Given the description of an element on the screen output the (x, y) to click on. 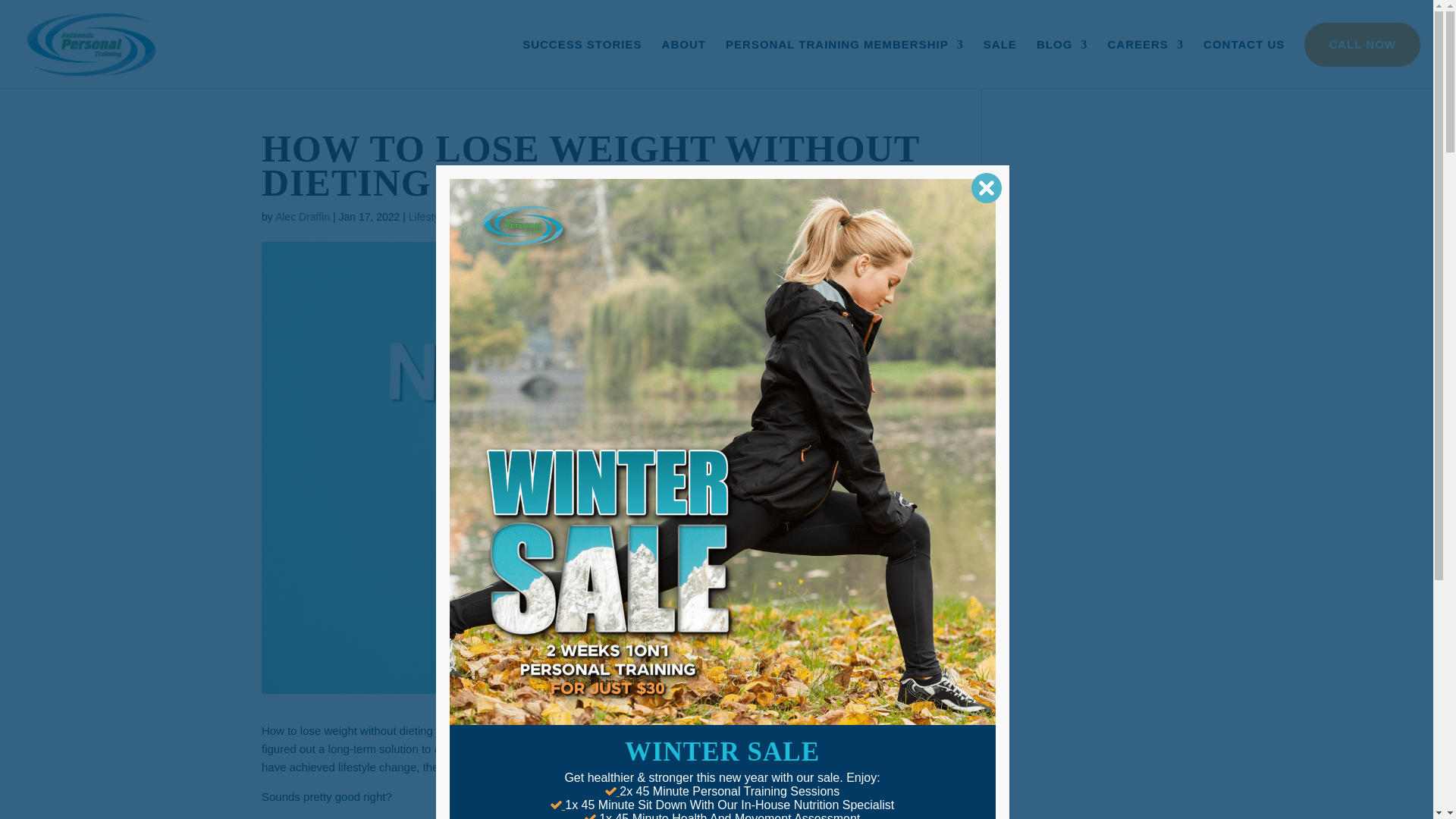
SUCCESS STORIES (582, 63)
PERSONAL TRAINING MEMBERSHIP (844, 63)
ABOUT (684, 63)
CALL NOW (1362, 44)
Weight Loss (482, 216)
Alec Draffin (302, 216)
BLOG (1061, 63)
CAREERS (1145, 63)
CONTACT US (1244, 63)
Posts by Alec Draffin (302, 216)
SALE (1000, 63)
Lifestyle (427, 216)
